Given the description of an element on the screen output the (x, y) to click on. 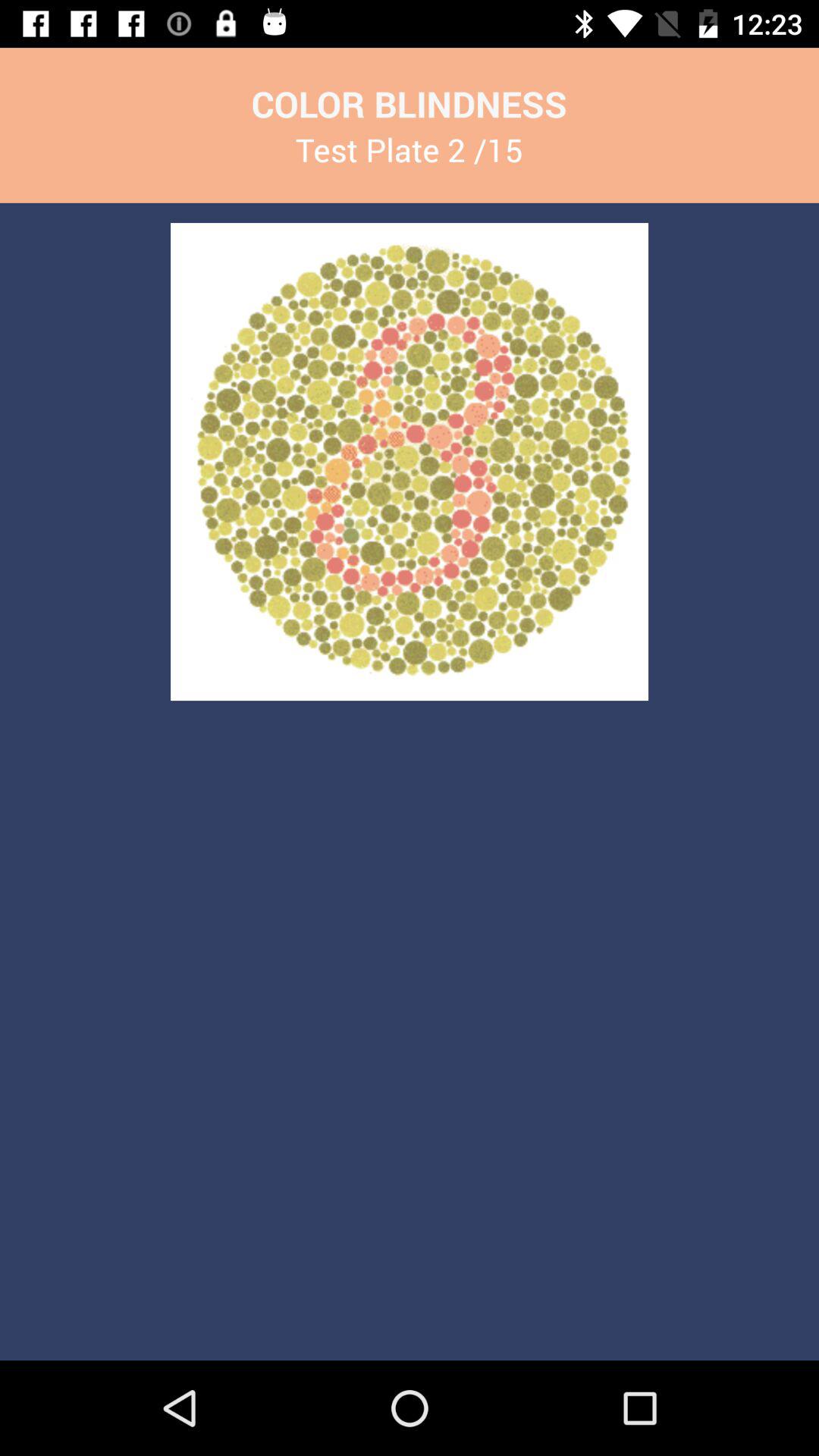
launch the icon below test plate 2 app (409, 461)
